Given the description of an element on the screen output the (x, y) to click on. 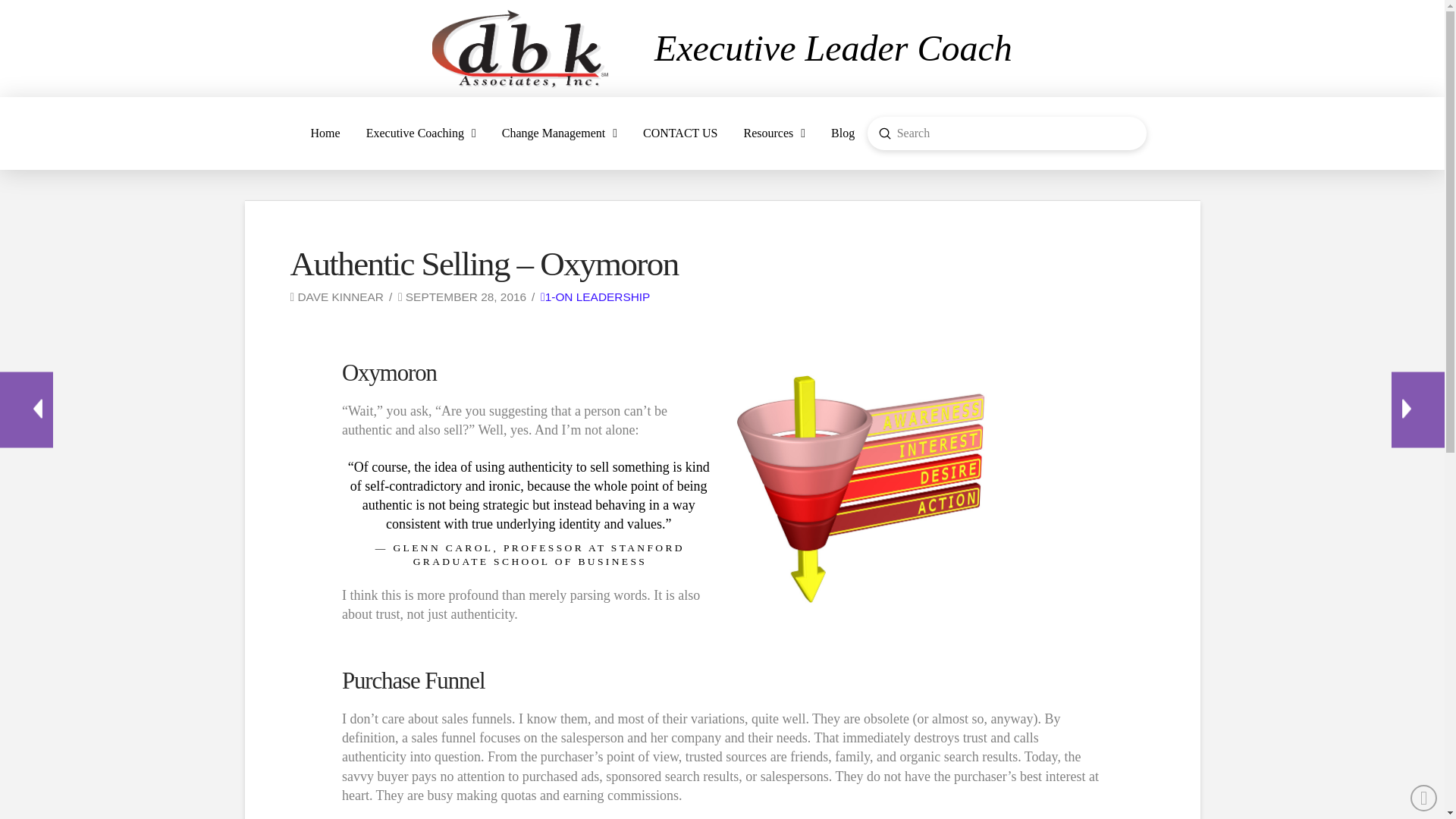
1-ON LEADERSHIP (594, 296)
Back to Top (1423, 797)
Change Management (559, 133)
CONTACT US (680, 133)
Submit (885, 133)
Executive Coaching (421, 133)
Executive Leader Coach (832, 47)
Resources (774, 133)
